Given the description of an element on the screen output the (x, y) to click on. 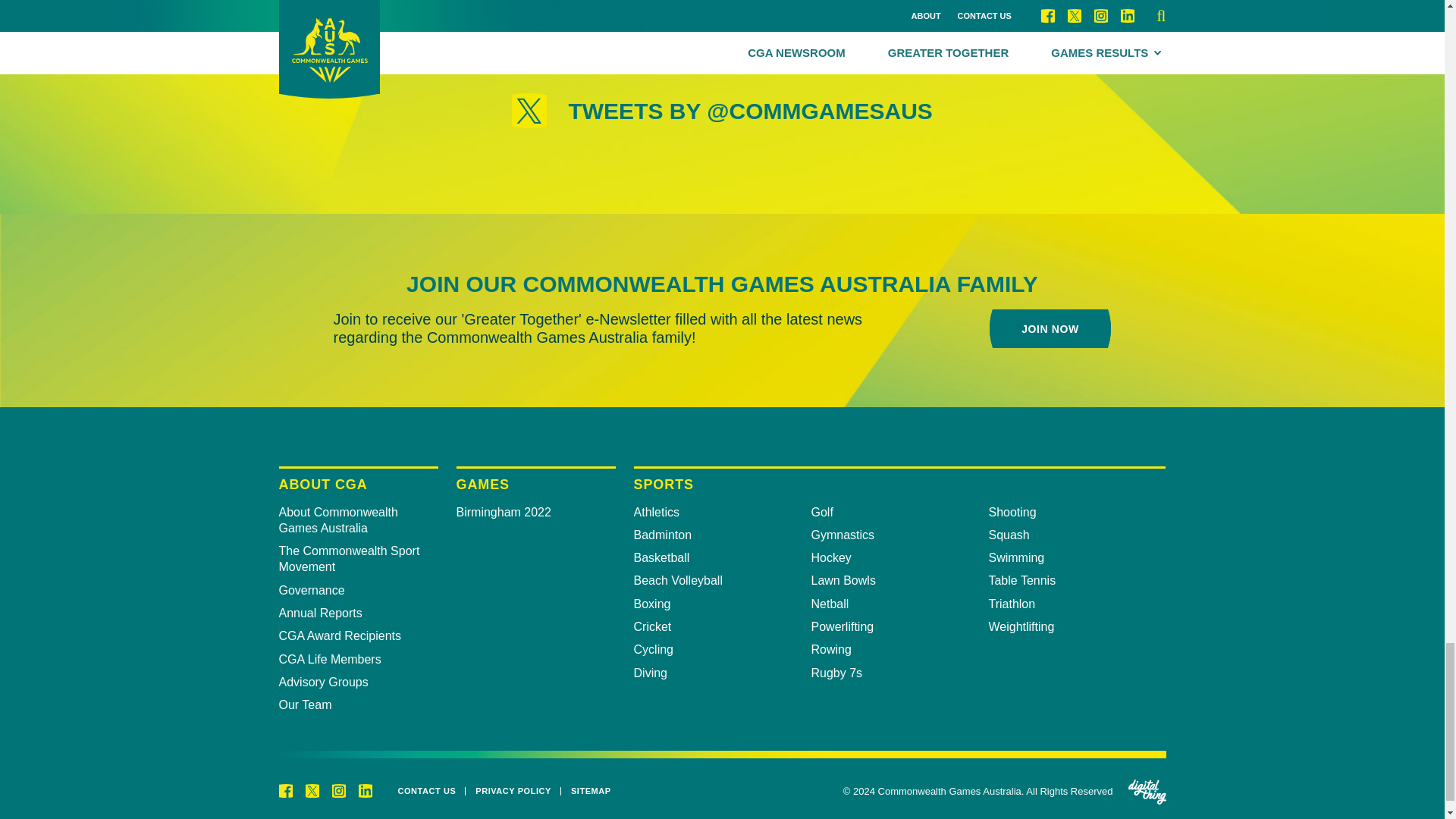
Melbourne Wordpress Developers - Digital Thing (1147, 791)
